Given the description of an element on the screen output the (x, y) to click on. 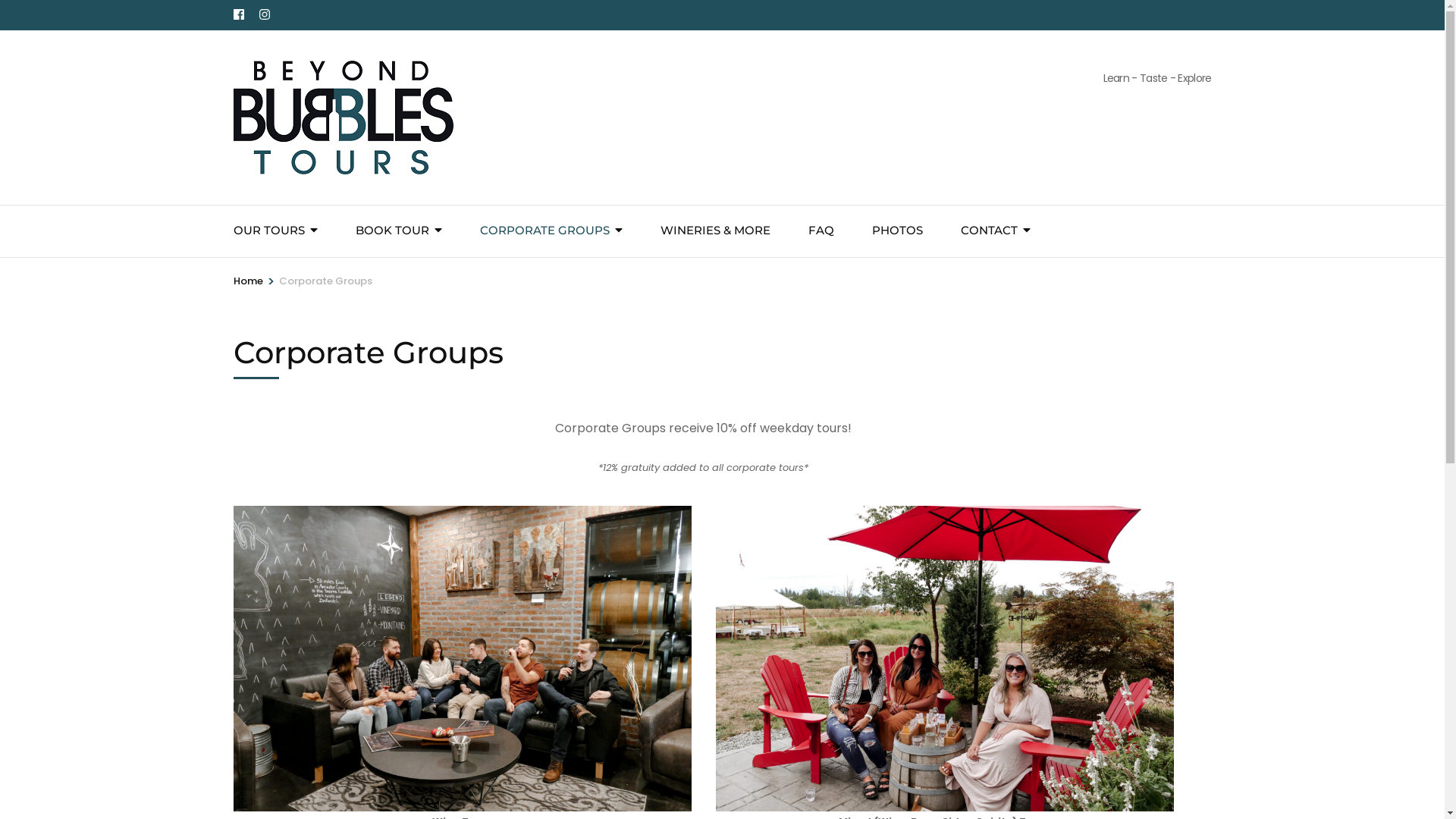
BOOK TOUR Element type: text (391, 231)
CORPORATE GROUPS Element type: text (543, 231)
FAQ Element type: text (821, 231)
Corporate Groups Element type: text (325, 281)
WINERIES & MORE Element type: text (714, 231)
PHOTOS Element type: text (897, 231)
CONTACT Element type: text (988, 231)
Home Element type: text (248, 281)
OUR TOURS Element type: text (268, 231)
